Given the description of an element on the screen output the (x, y) to click on. 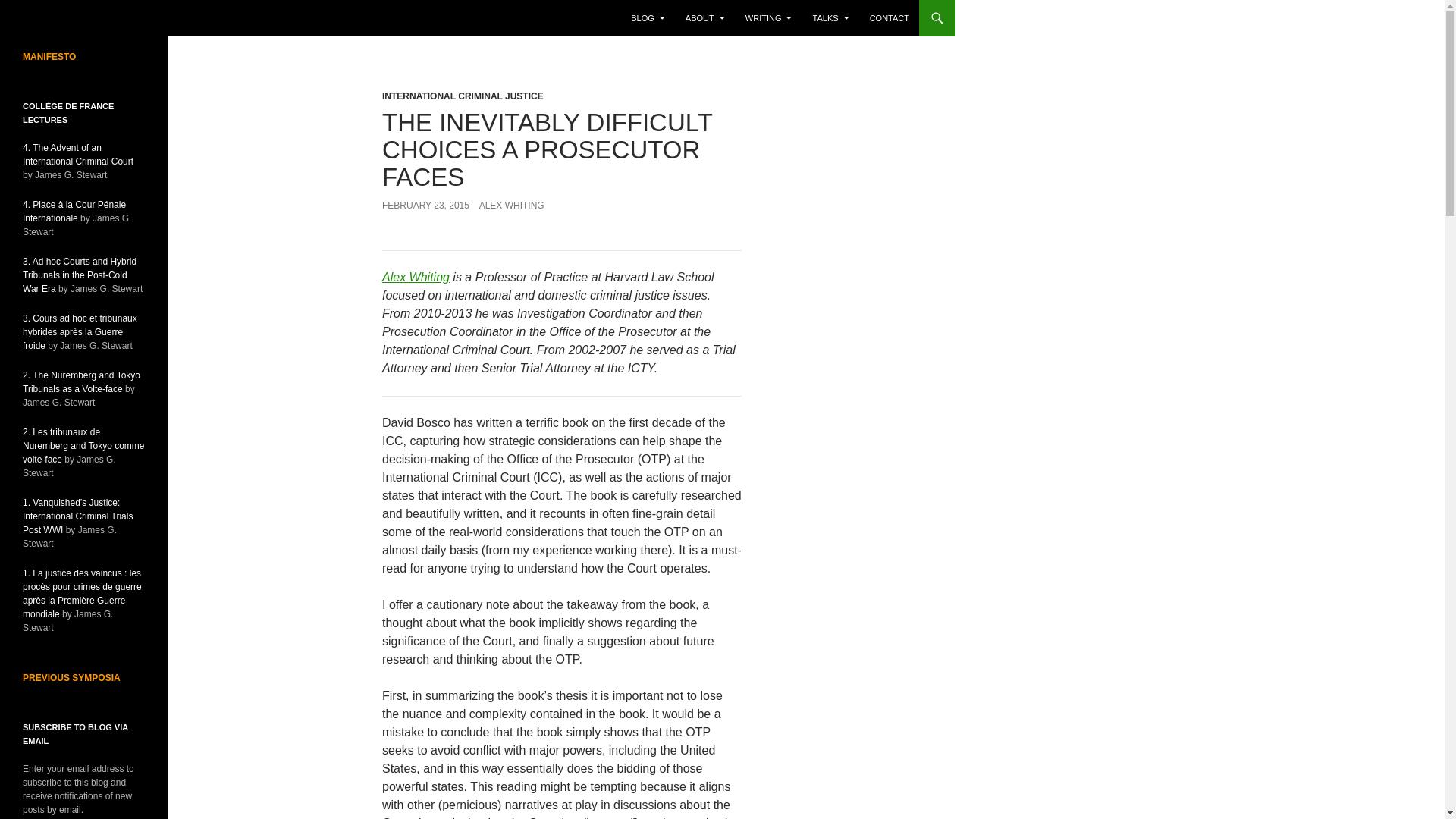
WRITING (769, 18)
MANIFESTO (49, 56)
INTERNATIONAL CRIMINAL JUSTICE (462, 95)
FEBRUARY 23, 2015 (424, 204)
ALEX WHITING (511, 204)
ABOUT (705, 18)
TALKS (831, 18)
CONTACT (889, 18)
PREVIOUS SYMPOSIA (71, 677)
BLOG (647, 18)
Alex Whiting (415, 277)
